Given the description of an element on the screen output the (x, y) to click on. 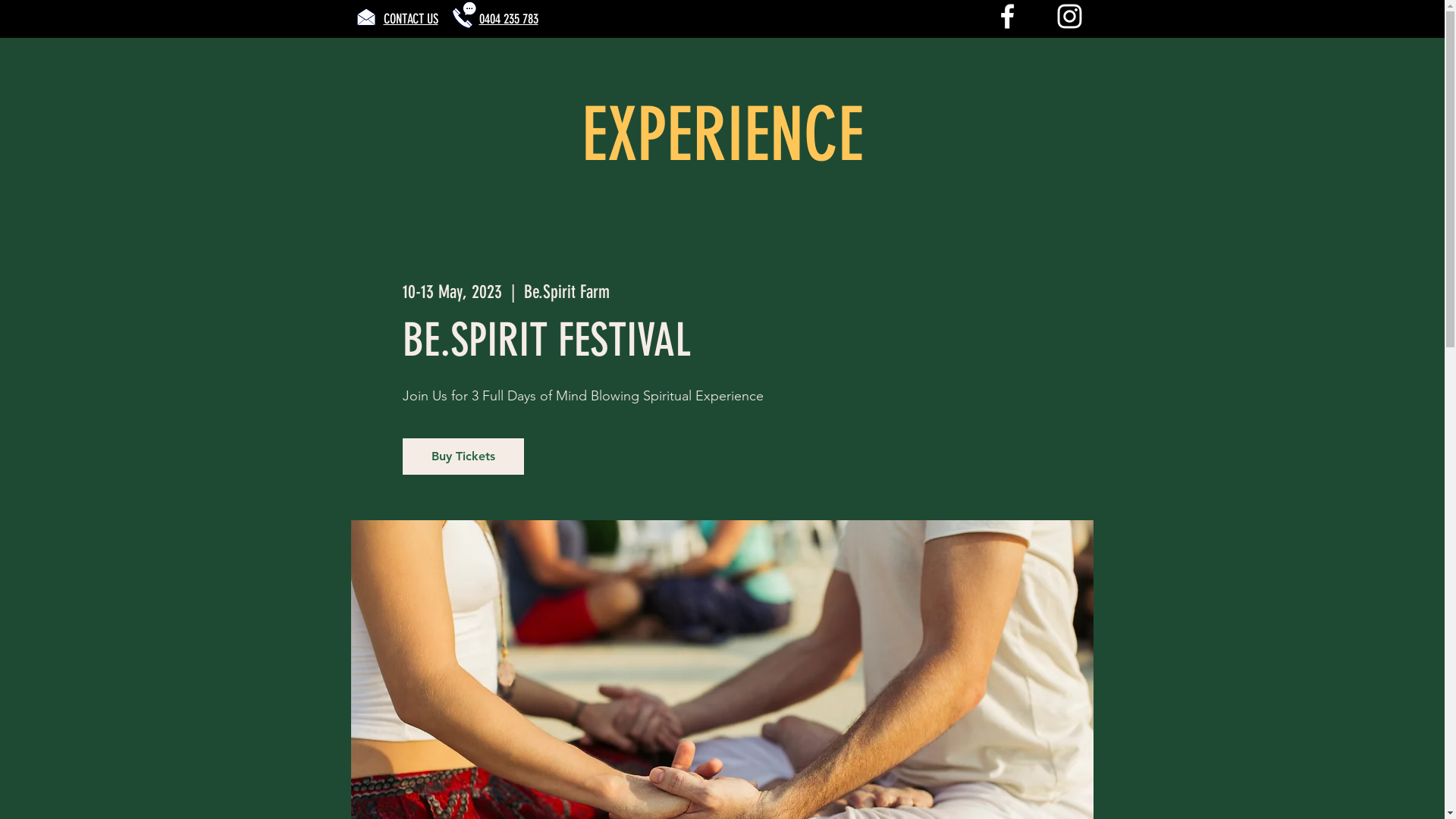
Buy Tickets Element type: text (463, 456)
0404 235 783 Element type: text (508, 18)
